Given the description of an element on the screen output the (x, y) to click on. 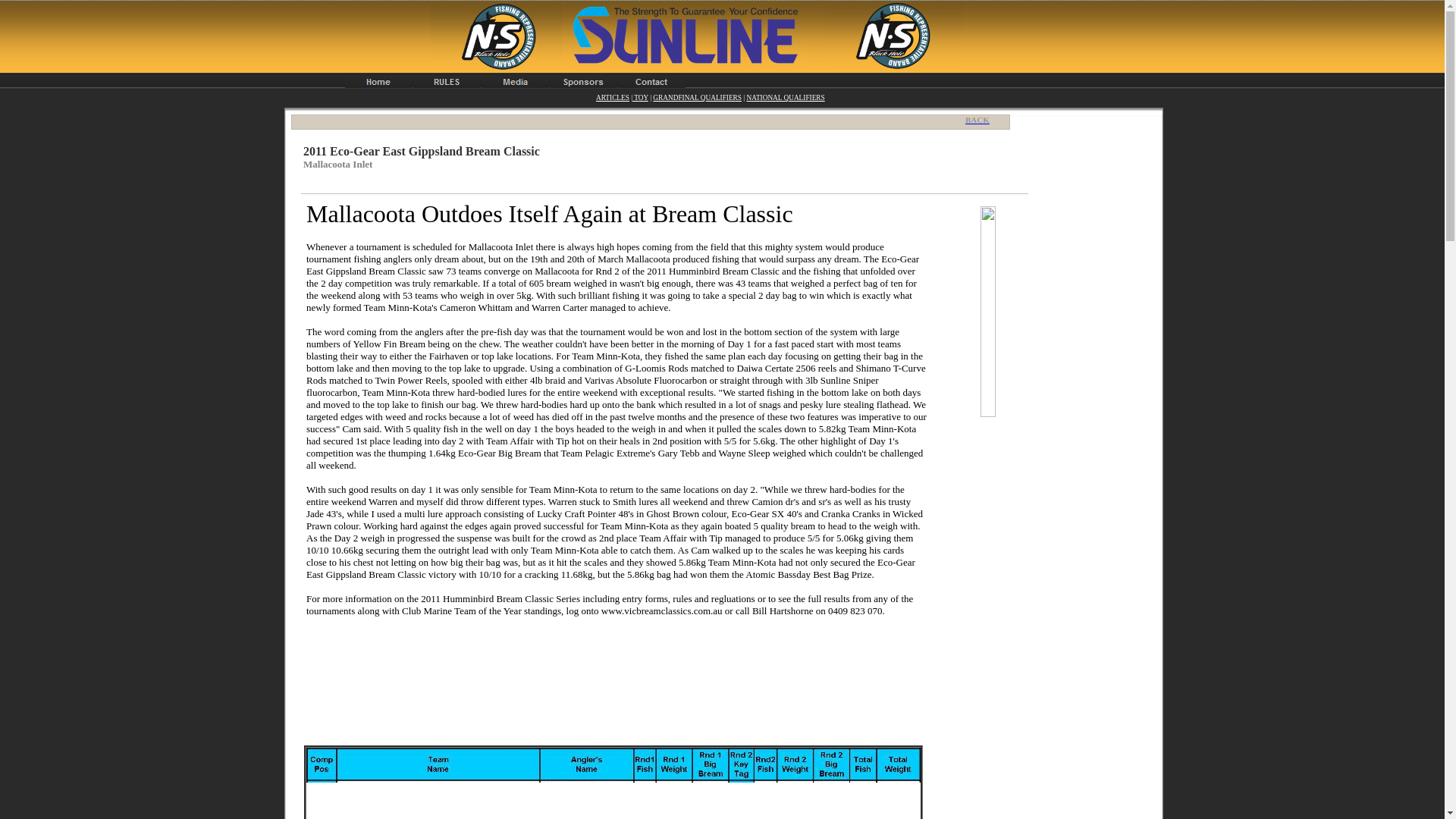
GRANDFINAL QUALIFIERS (696, 97)
BACK (981, 119)
TOY (639, 97)
ARTICLES (611, 97)
NATIONAL QUALIFIERS (784, 97)
